Given the description of an element on the screen output the (x, y) to click on. 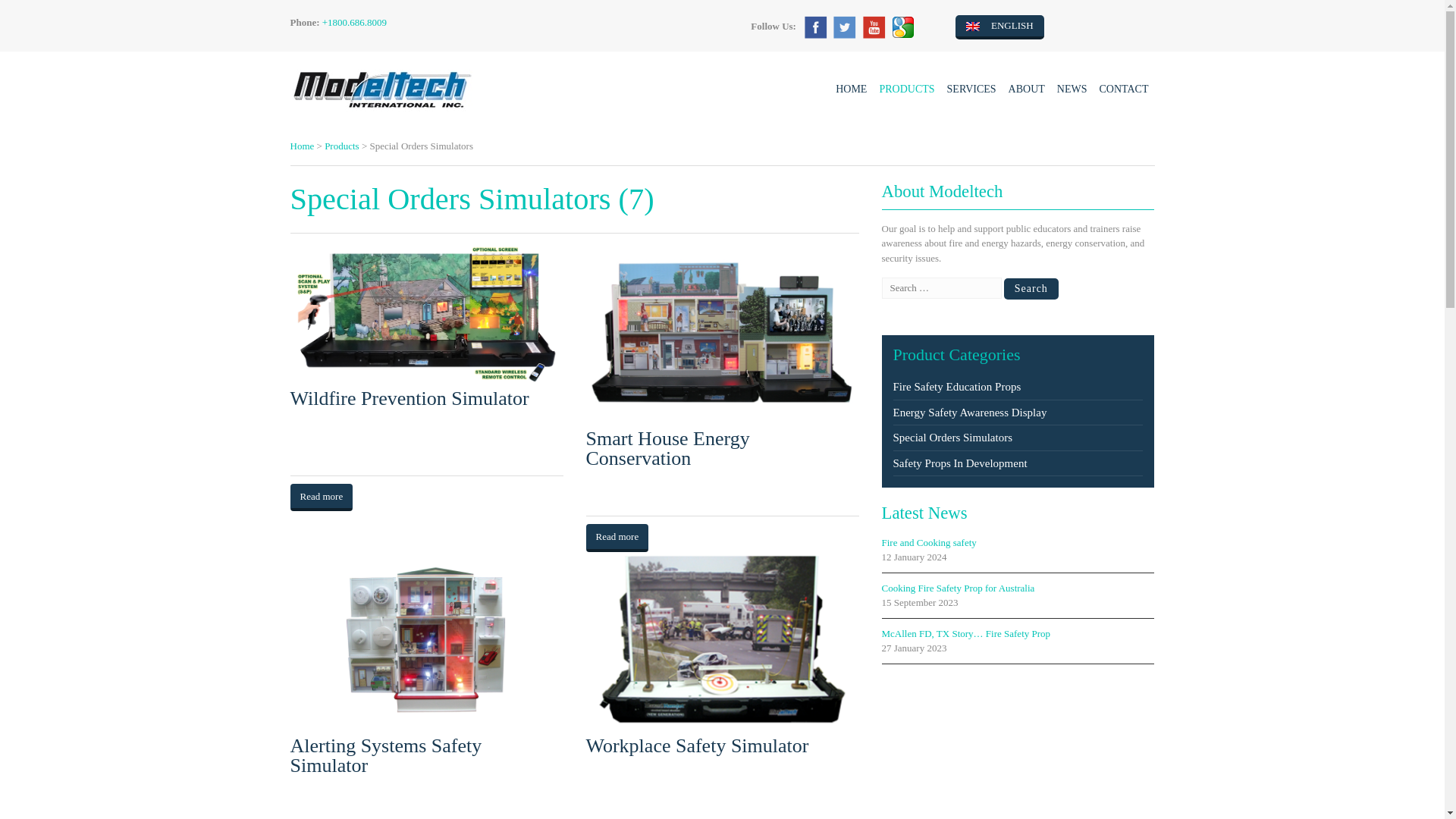
Search (1031, 288)
ENGLISH (999, 27)
PRODUCTS (906, 89)
CONTACT (1123, 89)
SERVICES (971, 89)
ABOUT (1027, 89)
HOME (850, 89)
NEWS (1072, 89)
Search (1031, 288)
